Given the description of an element on the screen output the (x, y) to click on. 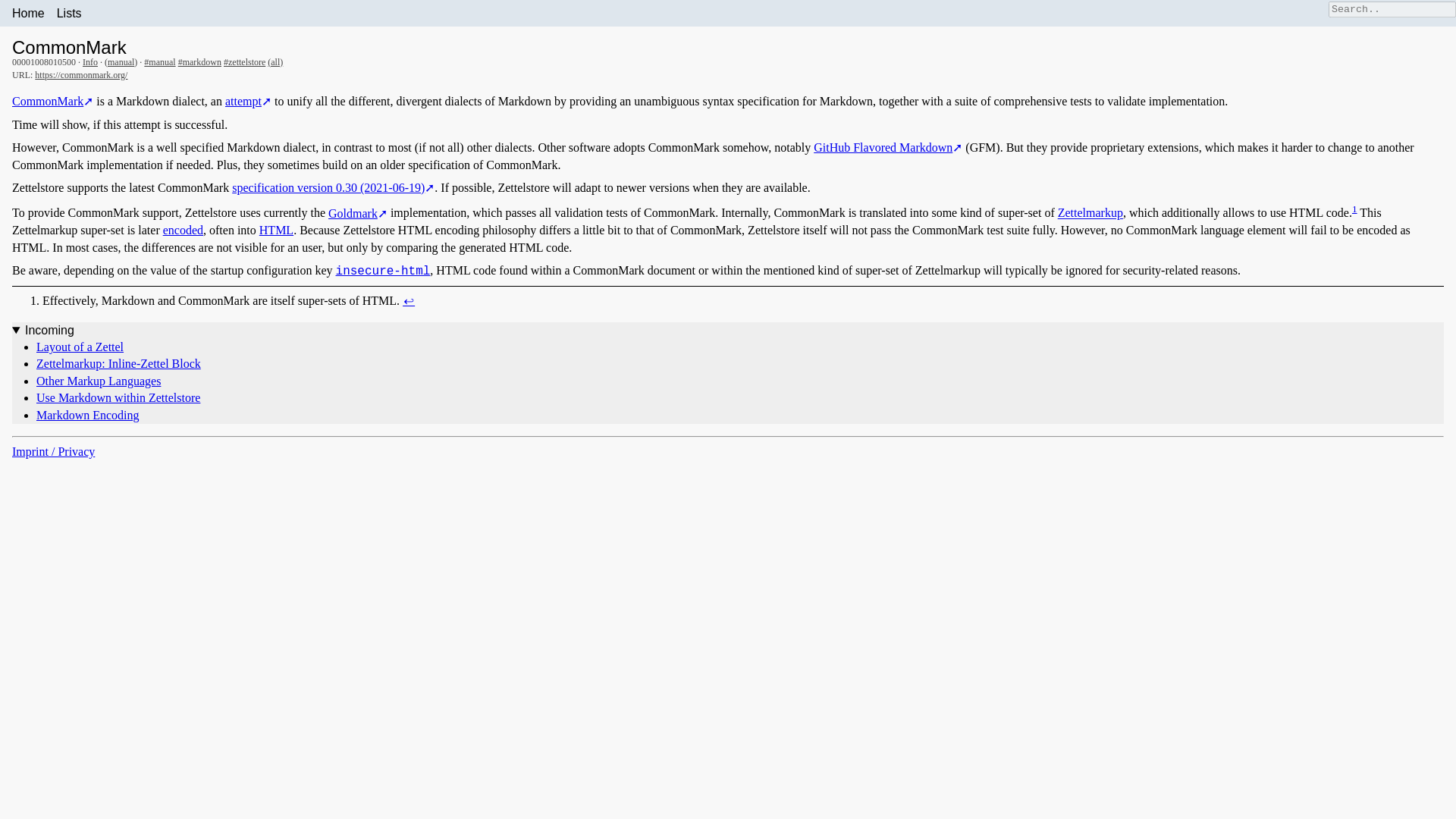
encoded (183, 229)
Use Markdown within Zettelstore (118, 397)
Markdown Encoding (87, 414)
GitHub Flavored Markdown (887, 146)
Zettelmarkup: Inline-Zettel Block (118, 363)
Layout of a Zettel (79, 346)
Zettelmarkup (1090, 213)
Home (27, 13)
HTML (276, 229)
Info (89, 61)
